Given the description of an element on the screen output the (x, y) to click on. 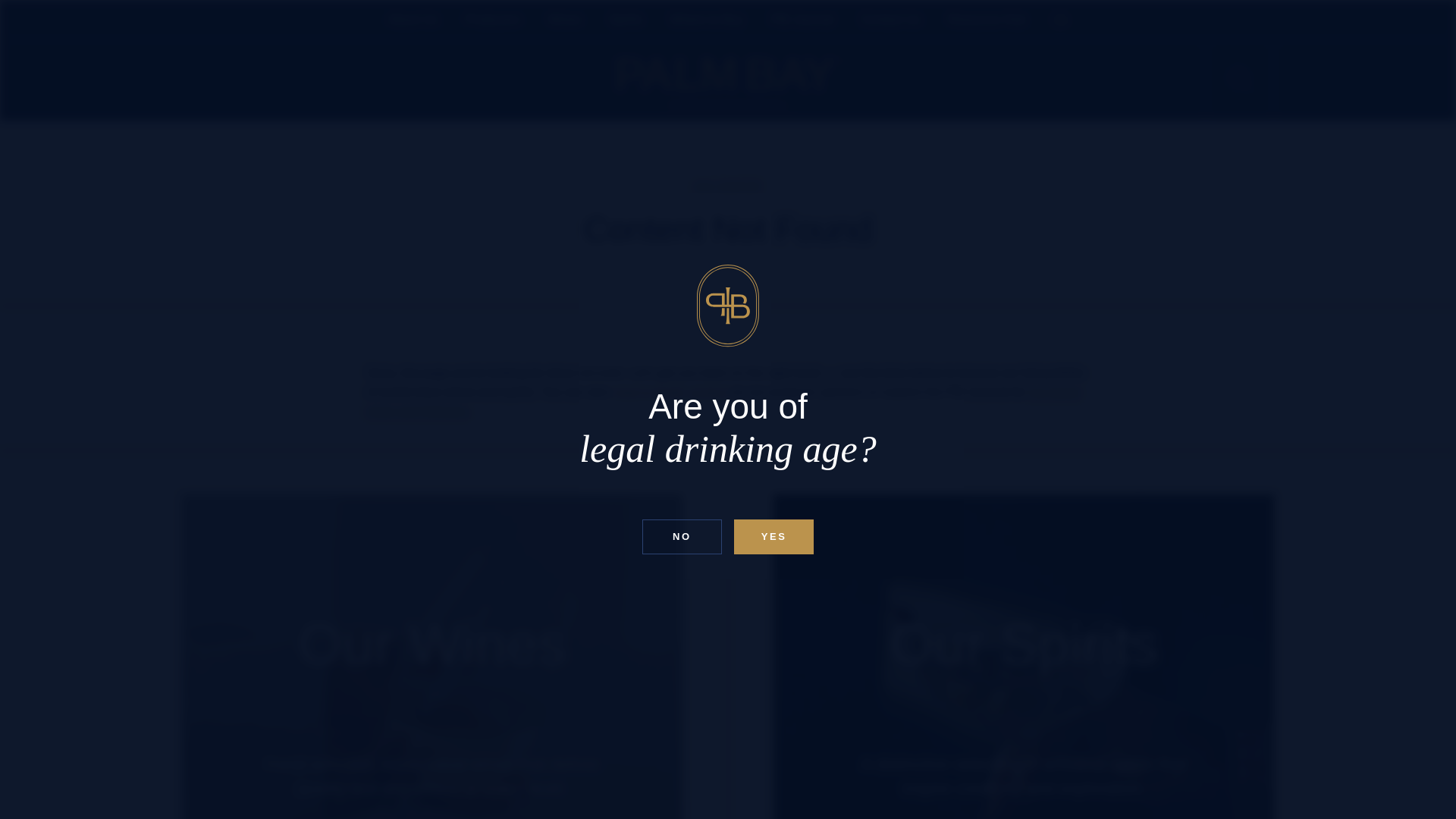
Producers (492, 20)
NO (682, 536)
About Us (412, 20)
Wines (564, 20)
YES (773, 536)
